Given the description of an element on the screen output the (x, y) to click on. 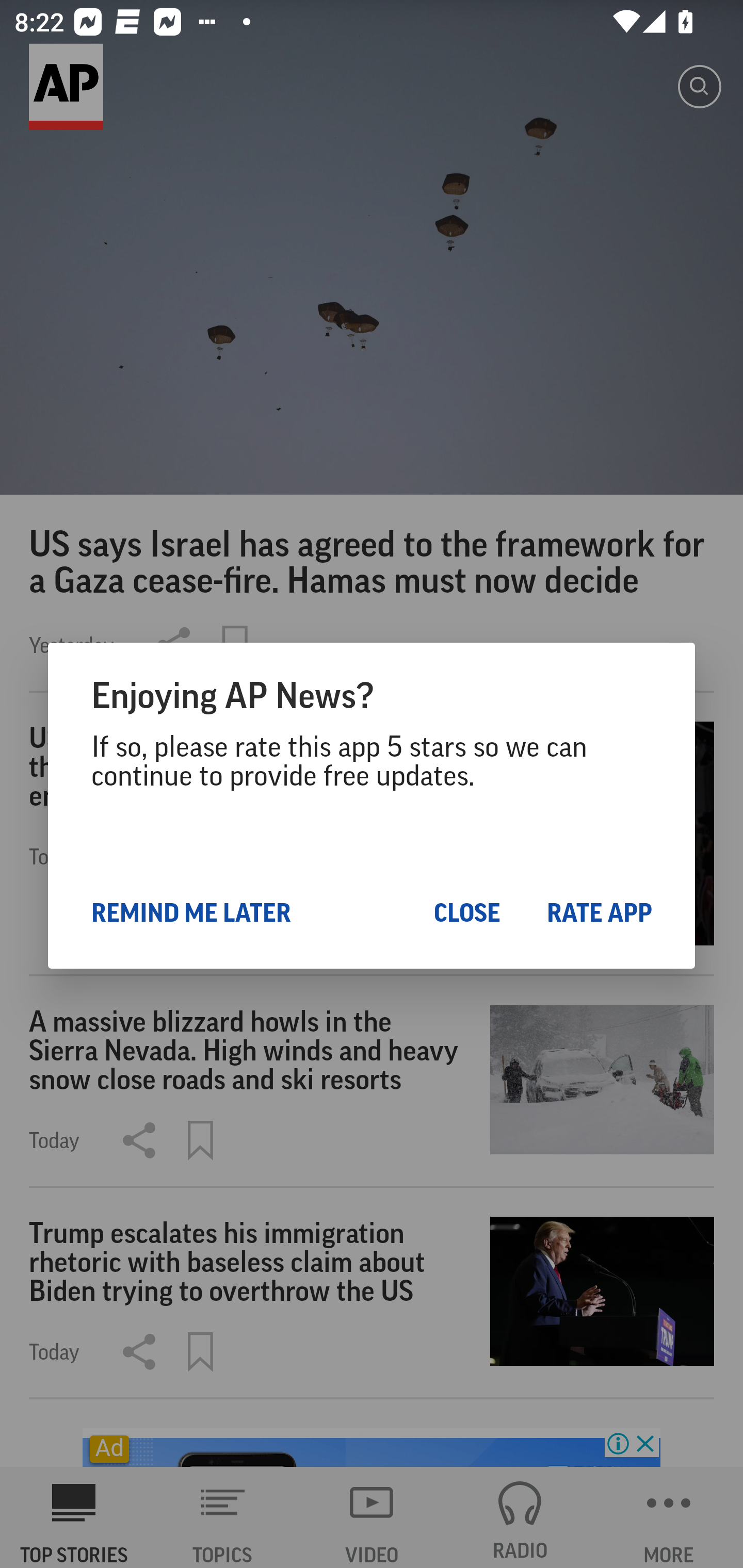
REMIND ME LATER (190, 912)
CLOSE (466, 912)
RATE APP (598, 912)
